Given the description of an element on the screen output the (x, y) to click on. 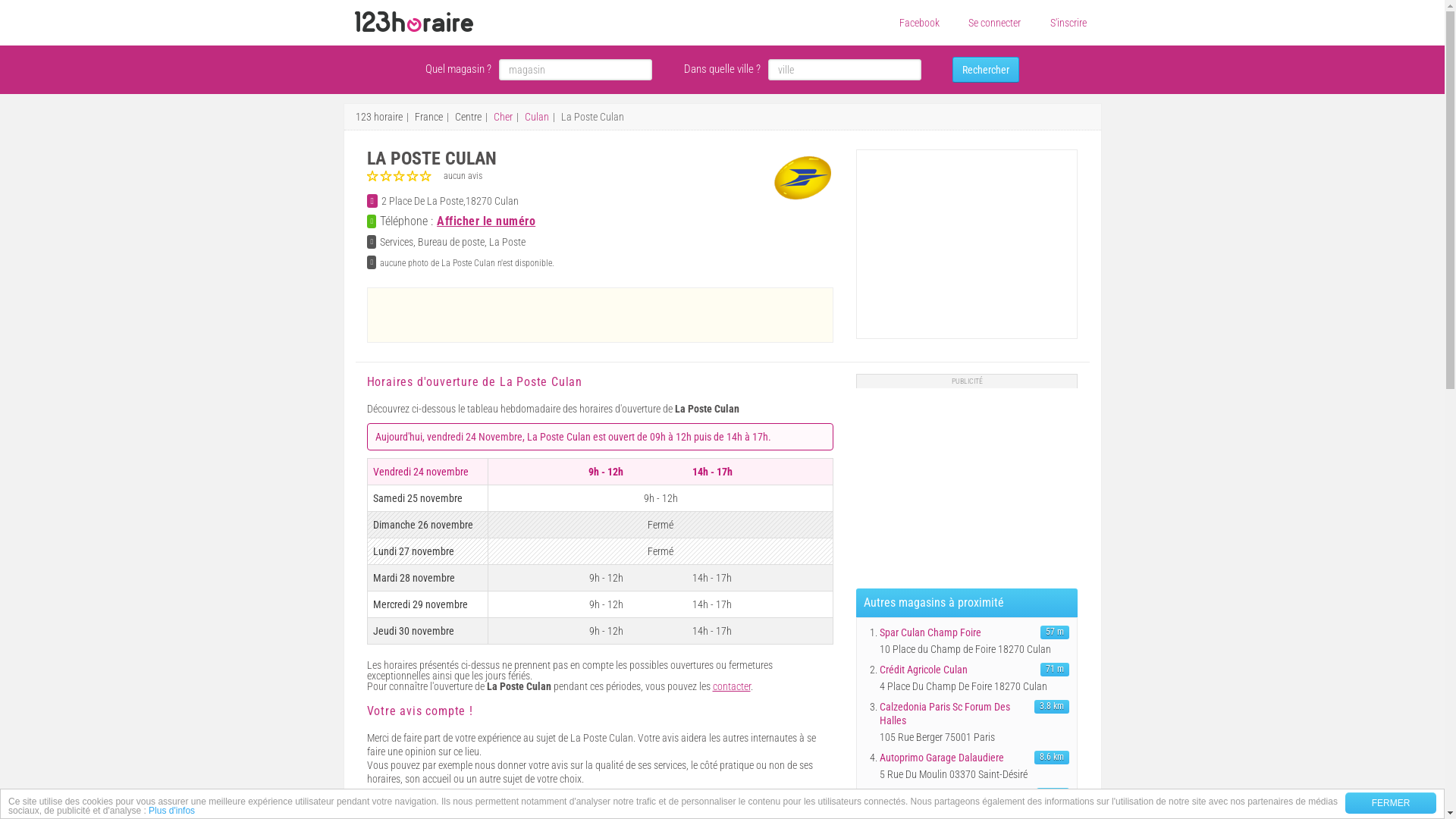
Advertisement Element type: hover (599, 314)
Autoprimo Garage Dalaudiere Element type: text (955, 757)
La Poste Element type: hover (802, 177)
Cher Element type: text (501, 116)
Se connecter Element type: text (994, 22)
FERMER Element type: text (1390, 802)
Plus d'infos Element type: text (171, 810)
Calzedonia Paris Sc Forum Des Halles Element type: text (955, 713)
Facebook Element type: text (919, 22)
U Express Le Chatelet En Berry Element type: text (955, 794)
Rechercher Element type: text (985, 69)
S'inscrire Element type: text (1067, 22)
Advertisement Element type: hover (969, 482)
Spar Culan Champ Foire Element type: text (955, 632)
Services Element type: text (396, 241)
Culan Element type: text (536, 116)
123horaires Element type: text (413, 21)
